Given the description of an element on the screen output the (x, y) to click on. 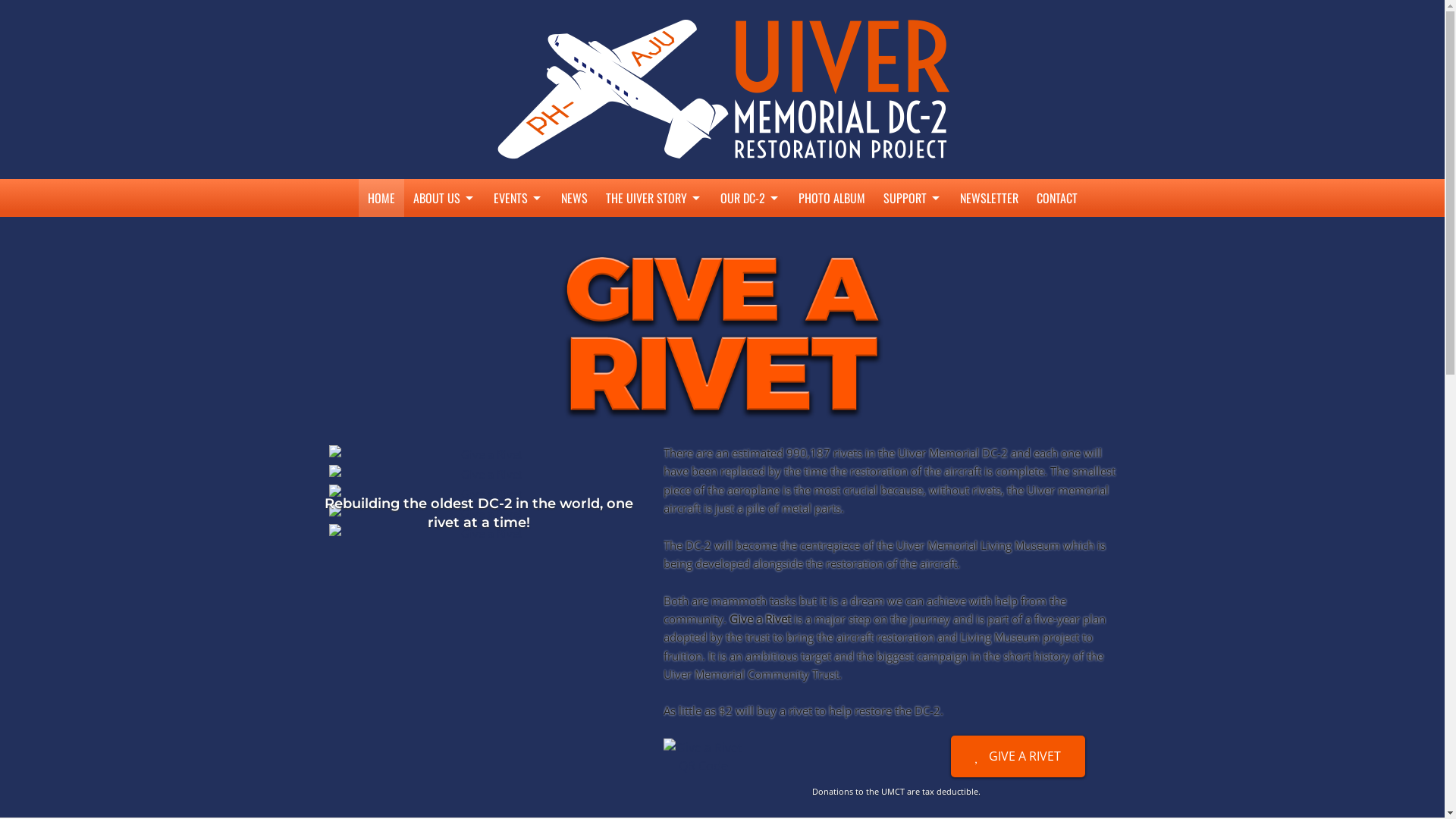
45th Anniversary Element type: text (653, 325)
ABOUT US Element type: text (443, 197)
75th Anniversary Element type: text (653, 387)
Partnerships & Supporters Element type: text (911, 231)
THE UIVER STORY Element type: text (653, 197)
With the RAAF Element type: text (750, 263)
85th Anniversary Element type: text (653, 449)
Join Us Element type: text (911, 263)
OUR DC-2 Element type: text (750, 197)
  GIVE A RIVET Element type: text (1017, 756)
Uiver Memorabilia Collection Element type: text (653, 511)
Restoration Progress Element type: text (443, 325)
Douglas DC-2 Design & Specs Element type: text (750, 325)
EVENTS Element type: text (517, 197)
With Eastern Air Lines Element type: text (750, 231)
About the UMCT Element type: text (443, 231)
Calendar of Events Element type: text (517, 231)
Albury and the Uiver Element type: text (653, 263)
25th Anniversary Element type: text (653, 294)
With West Albury Rotary Element type: text (750, 294)
Australian Competitors Element type: text (653, 480)
HOME Element type: text (380, 197)
SUPPORT Element type: text (911, 197)
Patrons Element type: text (911, 294)
PHOTO ALBUM Element type: text (830, 197)
NEWSLETTER Element type: text (988, 197)
80th Anniversary Element type: text (653, 418)
The Blom Family Element type: text (911, 356)
Mission Statement Element type: text (443, 263)
Goals and Objectives Element type: text (443, 294)
50th Anniversary Element type: text (653, 356)
NEWS Element type: text (574, 197)
National Trust NSW Element type: text (911, 325)
MacRobertson Trophy Air Race Element type: text (653, 231)
Virtual Tour Element type: text (750, 356)
CONTACT Element type: text (1055, 197)
